Given the description of an element on the screen output the (x, y) to click on. 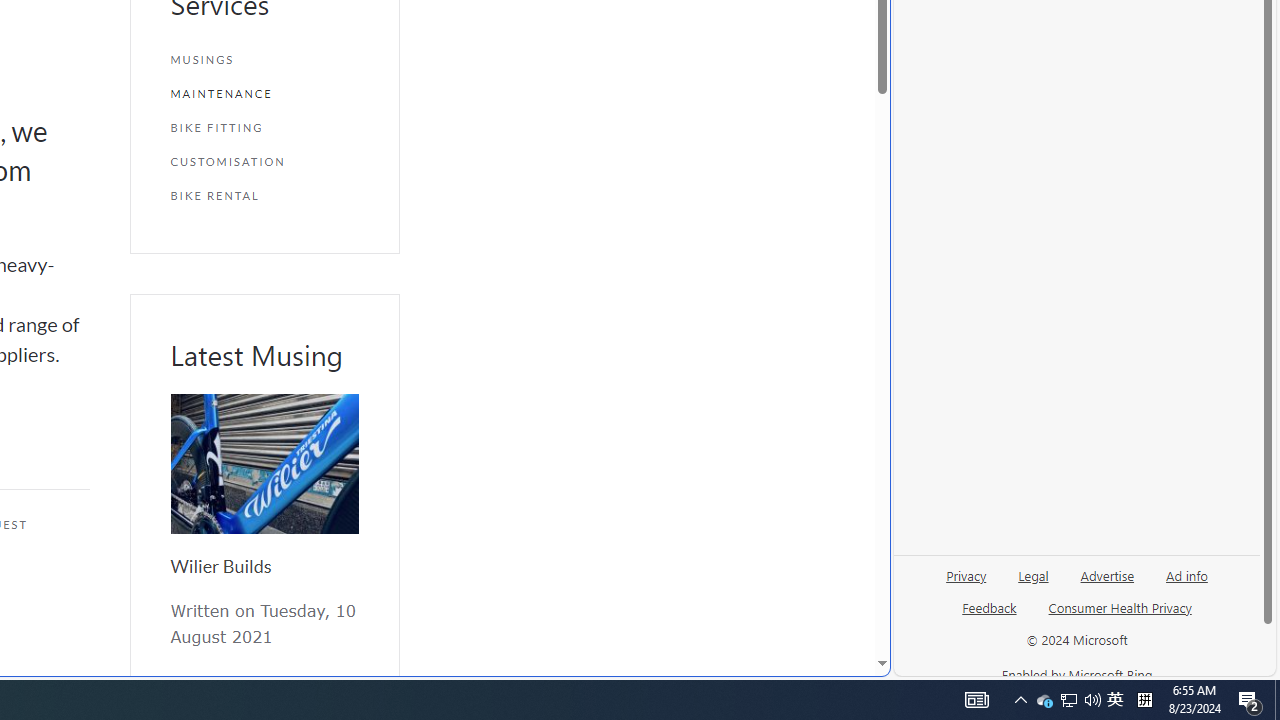
MAINTENANCE (264, 93)
CUSTOMISATION (264, 161)
MUSINGS (264, 60)
BIKE RENTAL (264, 195)
BIKE RENTAL (264, 195)
BIKE FITTING (264, 127)
CUSTOMISATION (264, 161)
